Given the description of an element on the screen output the (x, y) to click on. 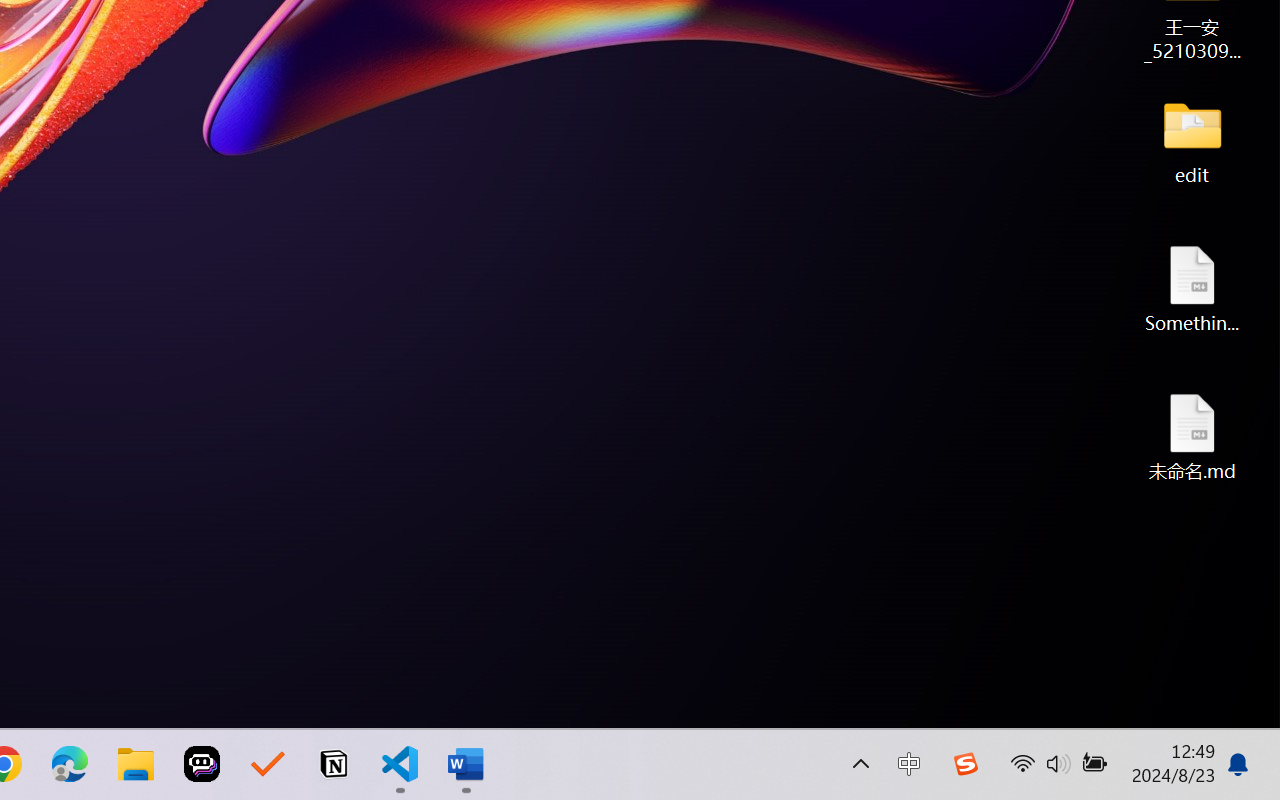
edit (1192, 140)
